Given the description of an element on the screen output the (x, y) to click on. 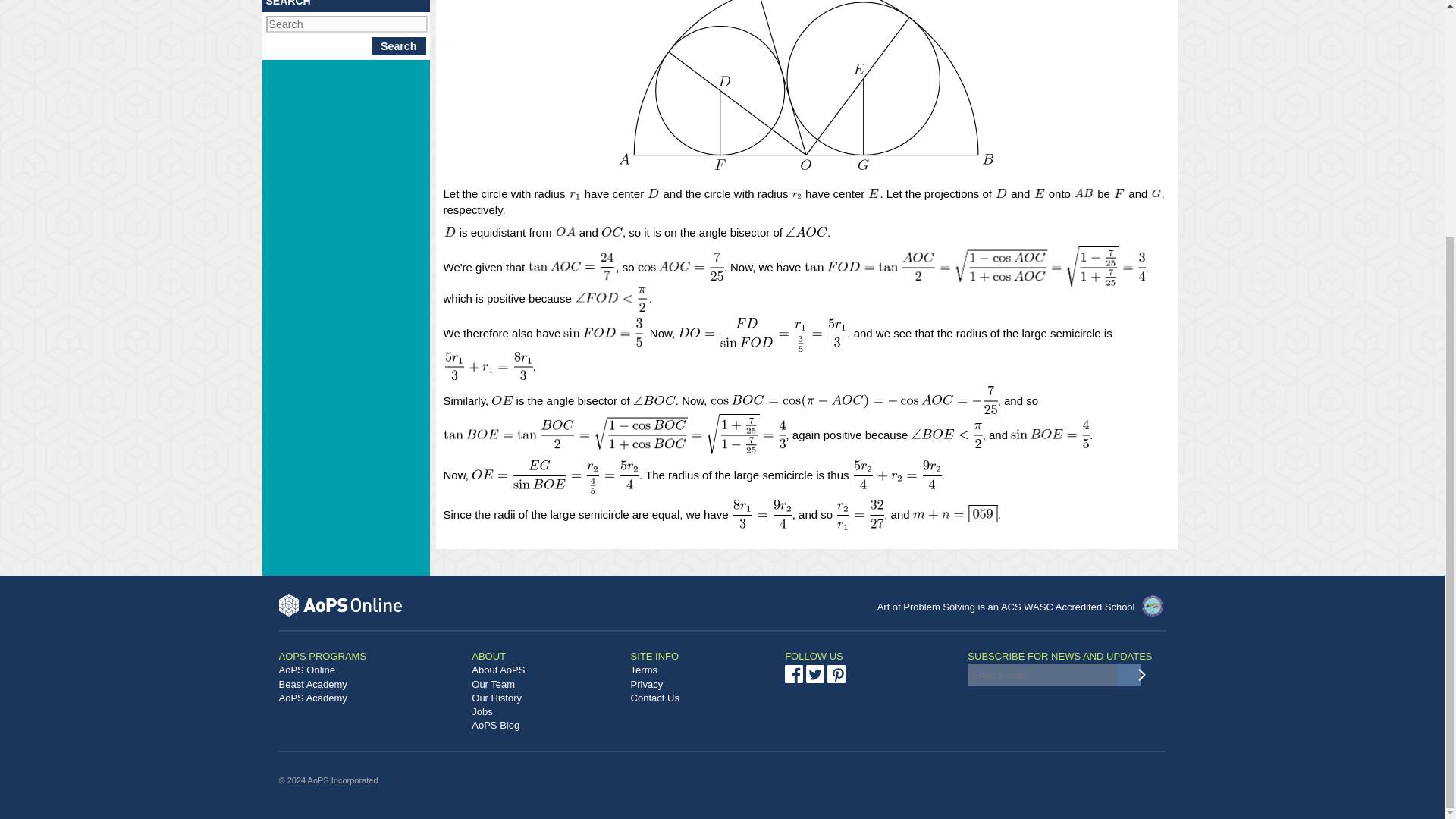
Search (398, 45)
Search (398, 45)
Search the pages for this text (398, 45)
